Given the description of an element on the screen output the (x, y) to click on. 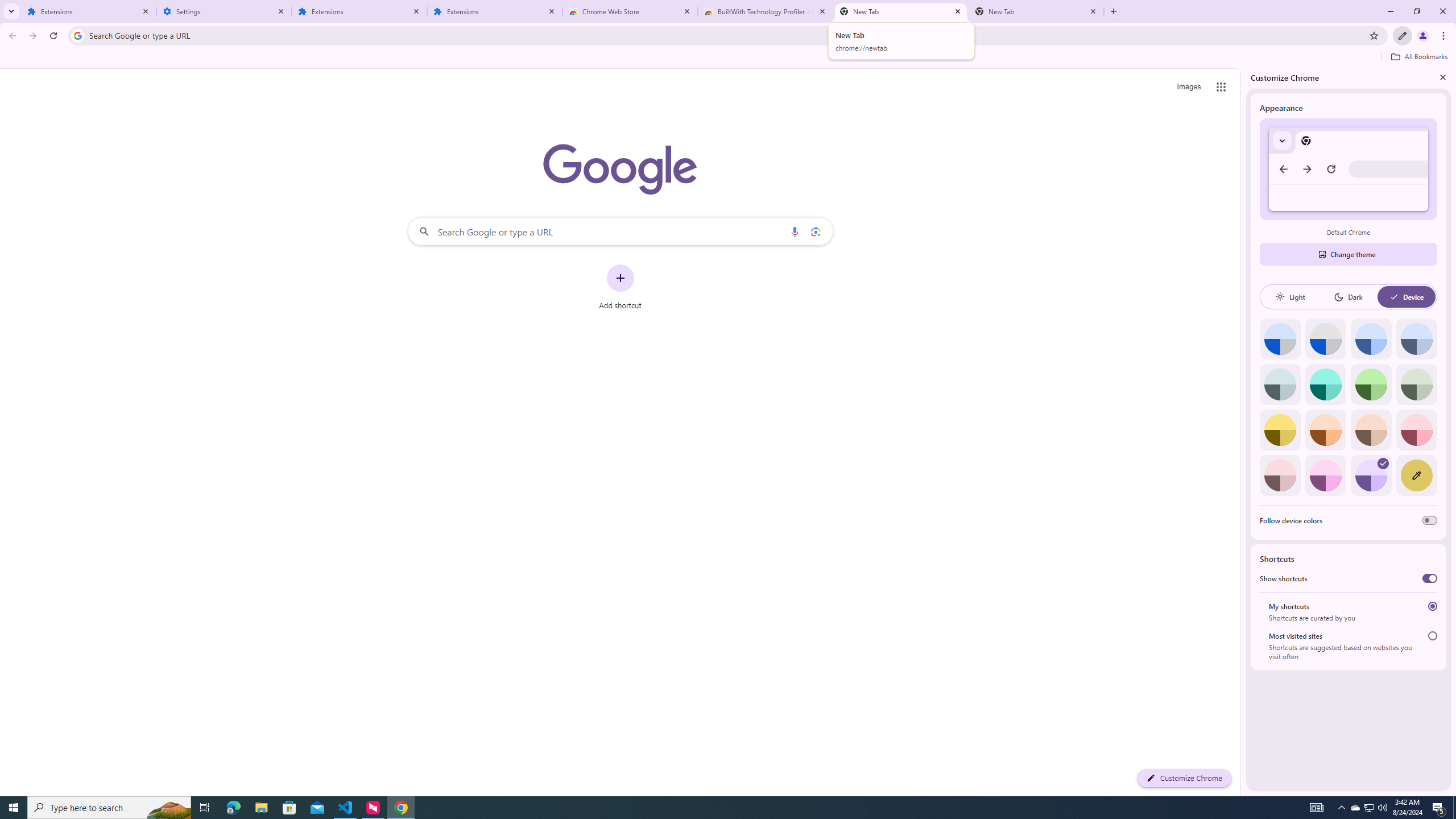
BuiltWith Technology Profiler - Chrome Web Store (765, 11)
Search for Images  (1188, 87)
Follow device colors (1429, 519)
Side Panel Resize Handle (1242, 431)
Grey (1279, 383)
Default color (1279, 338)
Apricot (1371, 429)
AutomationID: svg (1383, 463)
Blue (1371, 338)
Extensions (359, 11)
New Tab (1036, 11)
Fuchsia (1325, 475)
